Given the description of an element on the screen output the (x, y) to click on. 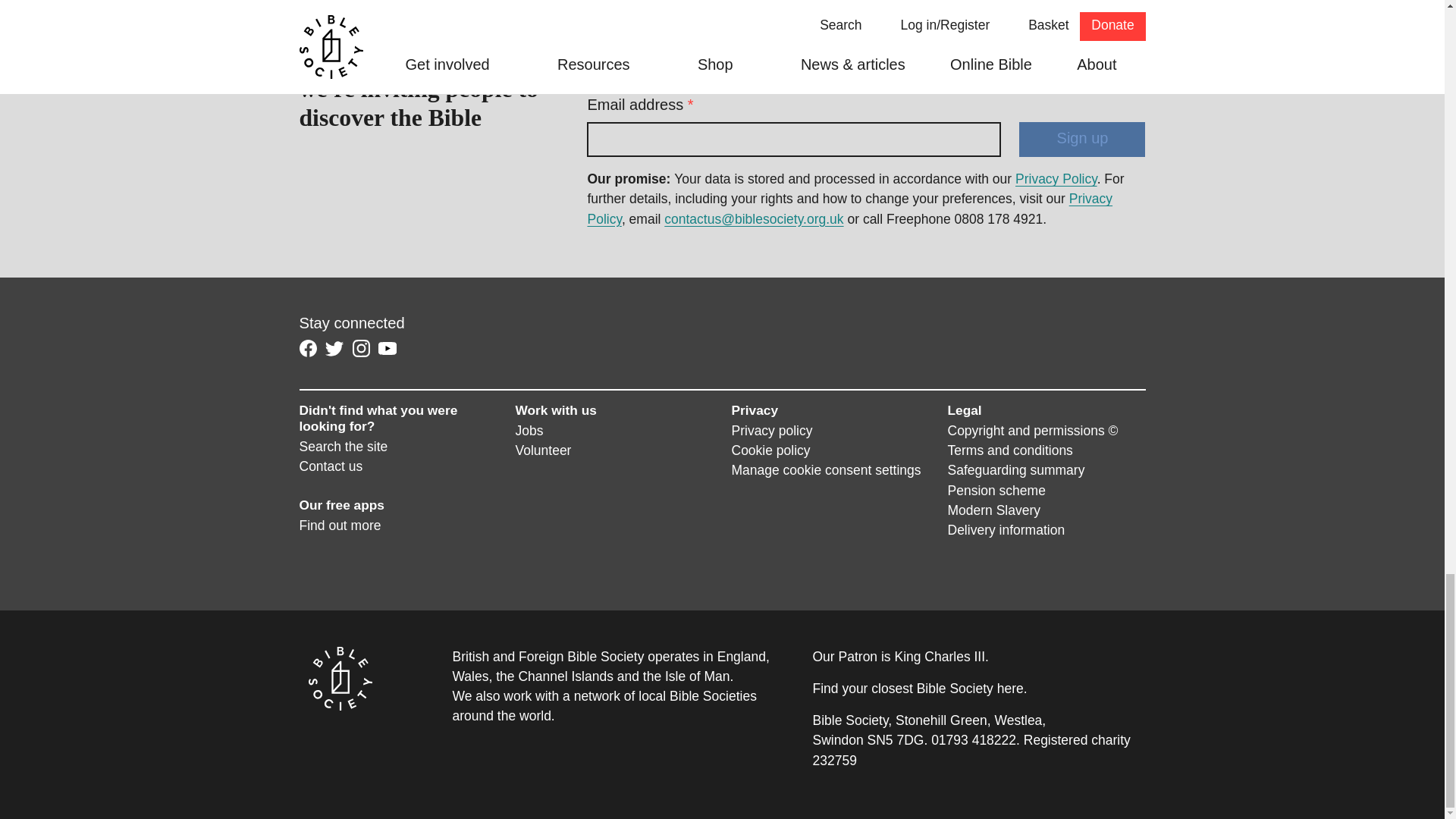
Please select your title (625, 63)
